Given the description of an element on the screen output the (x, y) to click on. 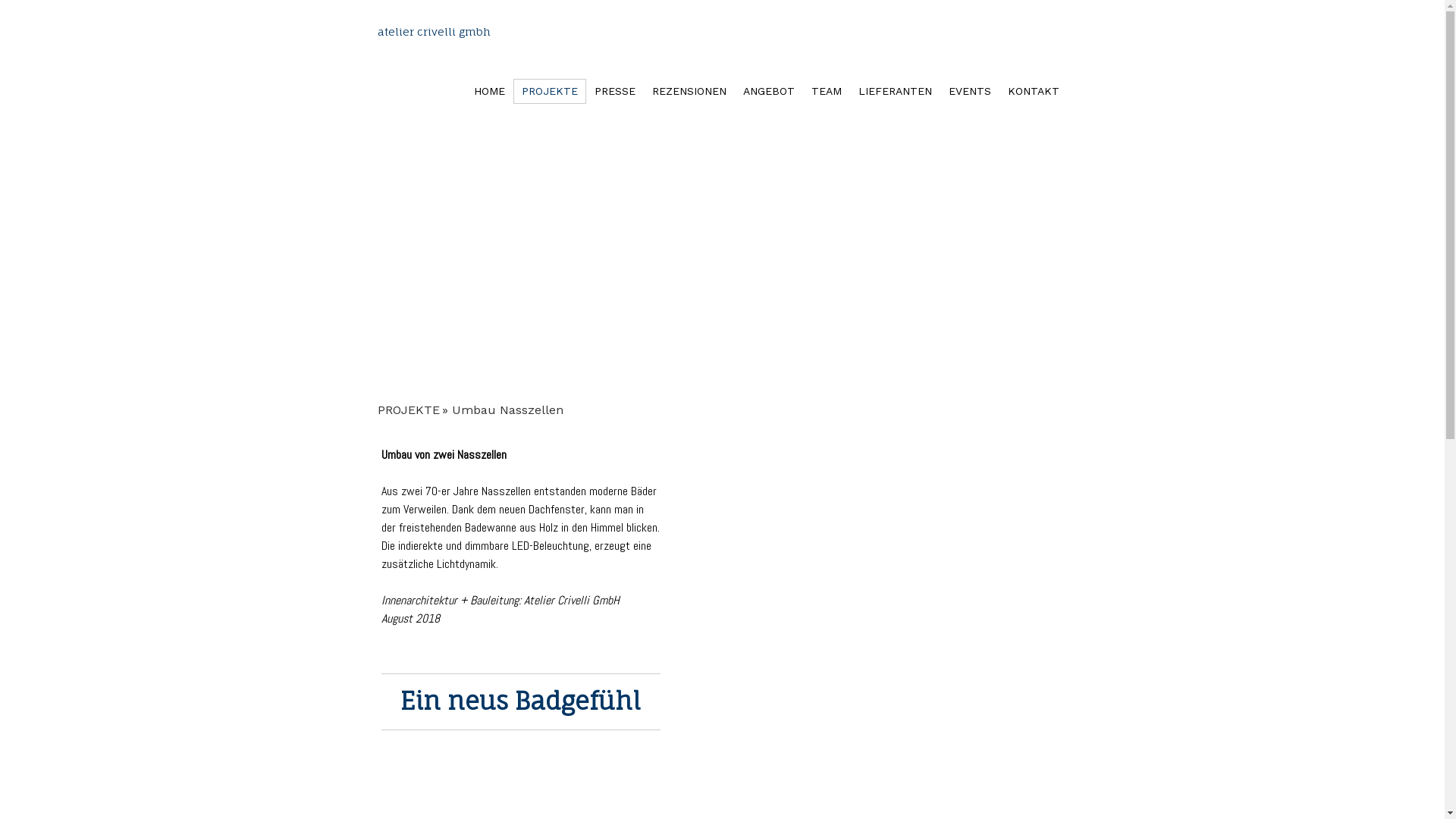
LIEFERANTEN Element type: text (894, 90)
EVENTS Element type: text (969, 90)
KONTAKT Element type: text (1033, 90)
PRESSE Element type: text (614, 90)
PROJEKTE Element type: text (548, 90)
Umbau Nasszellen Element type: text (510, 410)
TEAM Element type: text (825, 90)
atelier crivelli gmbh Element type: text (433, 31)
REZENSIONEN Element type: text (688, 90)
HOME Element type: text (489, 90)
PROJEKTE Element type: text (414, 410)
ANGEBOT Element type: text (768, 90)
